Given the description of an element on the screen output the (x, y) to click on. 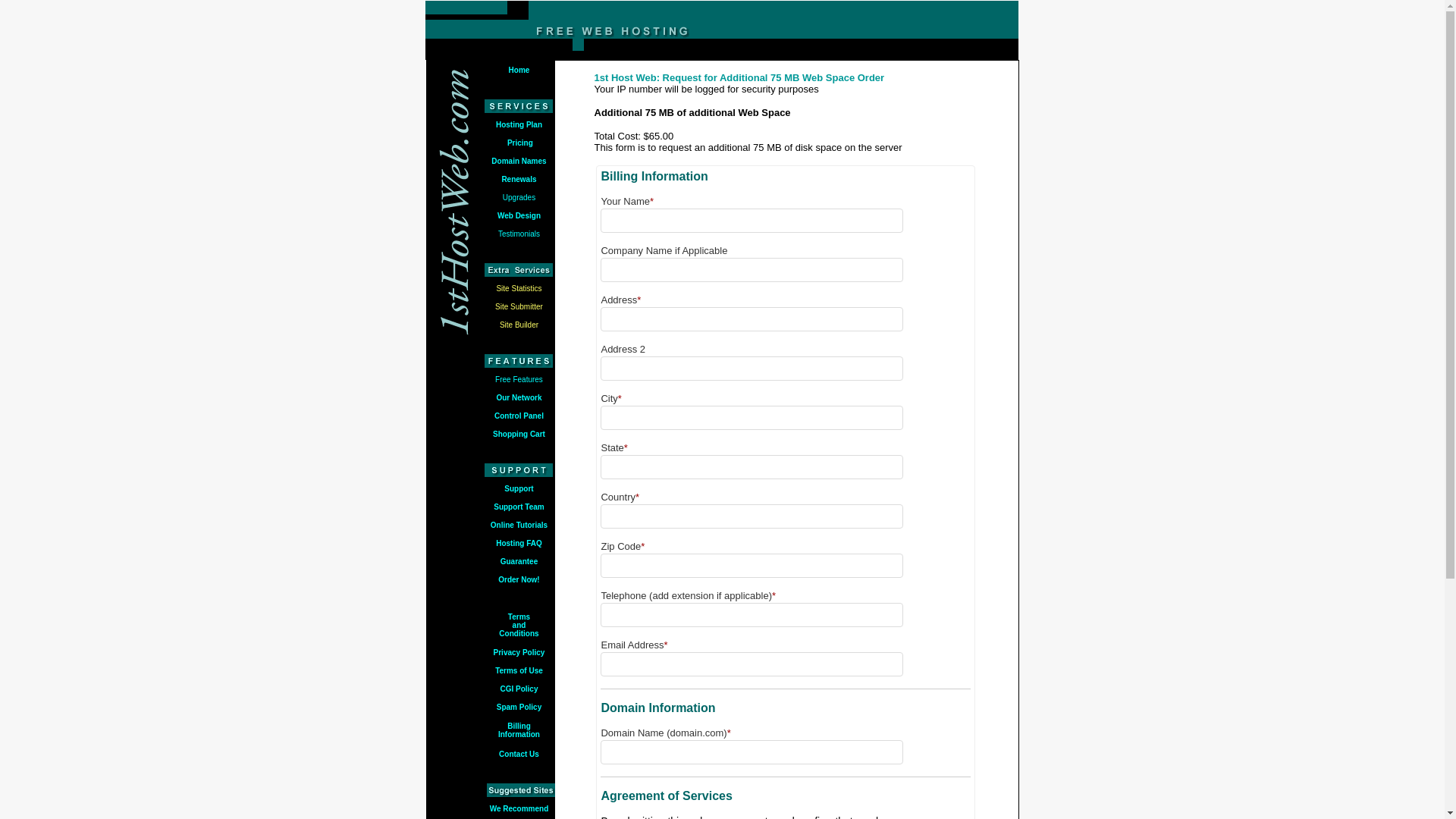
Hosting Plan Element type: text (518, 123)
Domain Names Element type: text (518, 160)
Hosting FAQ Element type: text (518, 542)
Testimonials Element type: text (518, 233)
Online Tutorials Element type: text (518, 523)
Contact Us Element type: text (518, 753)
Billing
Information Element type: text (518, 729)
Renewals Element type: text (518, 177)
Support Team Element type: text (518, 506)
Our Network Element type: text (518, 396)
Terms of Use Element type: text (518, 669)
Home Element type: text (519, 69)
Control Panel Element type: text (518, 415)
Guarantee Element type: text (518, 560)
Upgrades Element type: text (518, 196)
Support Element type: text (518, 486)
Web Design Element type: text (518, 213)
We Recommend Element type: text (519, 807)
Site Builder Element type: text (518, 324)
 Pricing Element type: text (519, 140)
Site Submitter Element type: text (518, 305)
Shopping Cart Element type: text (518, 433)
Privacy Policy Element type: text (519, 651)
CGI Policy Element type: text (518, 688)
Free Features Element type: text (518, 378)
Order Now! Element type: text (518, 578)
Spam Policy Element type: text (518, 706)
Terms
and
Conditions Element type: text (518, 624)
Site Statistics Element type: text (518, 287)
